Given the description of an element on the screen output the (x, y) to click on. 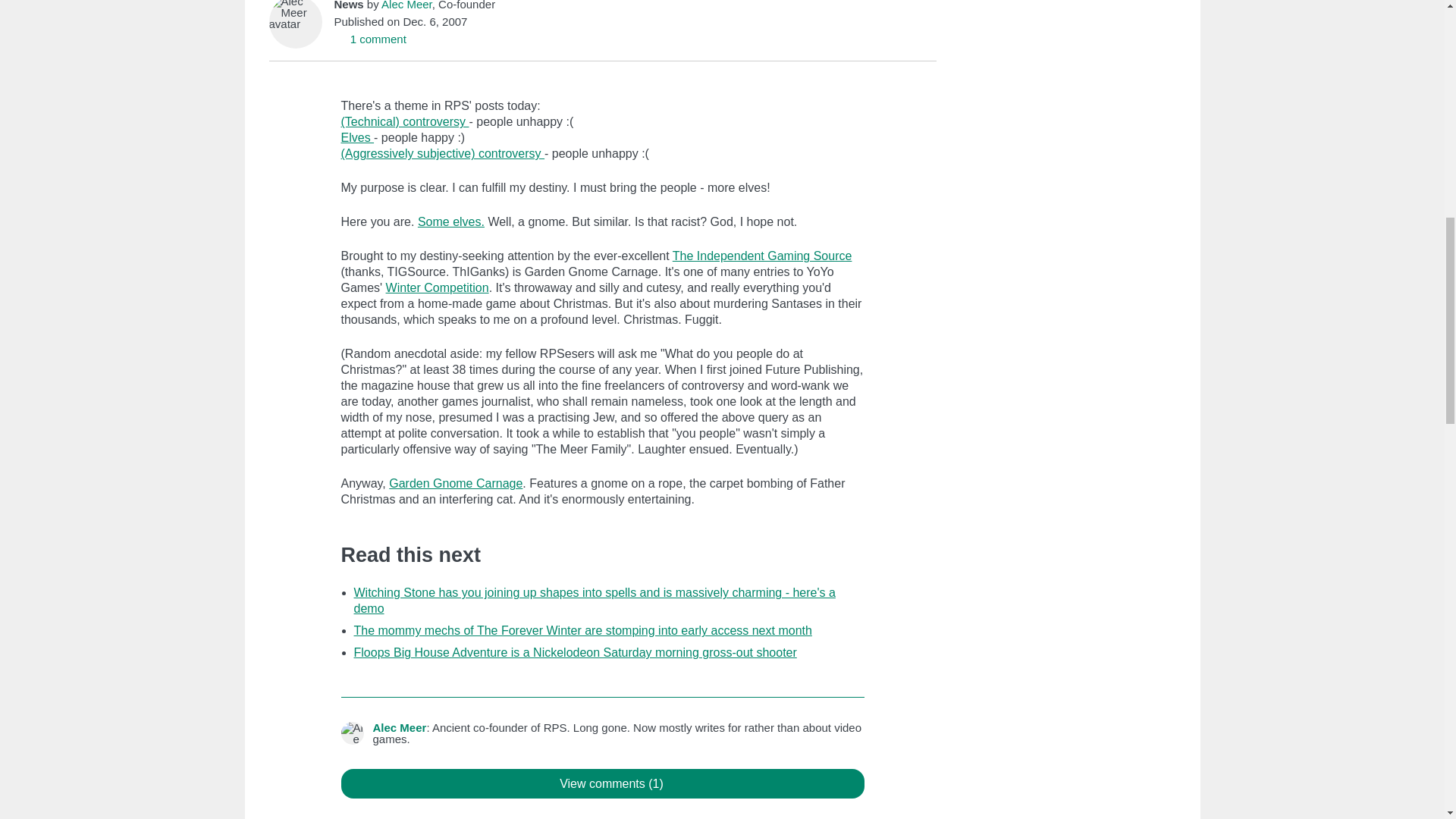
1 comment (369, 38)
Garden Gnome Carnage (455, 482)
The Independent Gaming Source (761, 255)
Alec Meer (406, 5)
Winter Competition (437, 287)
Elves (357, 137)
Some elves. (450, 221)
